Given the description of an element on the screen output the (x, y) to click on. 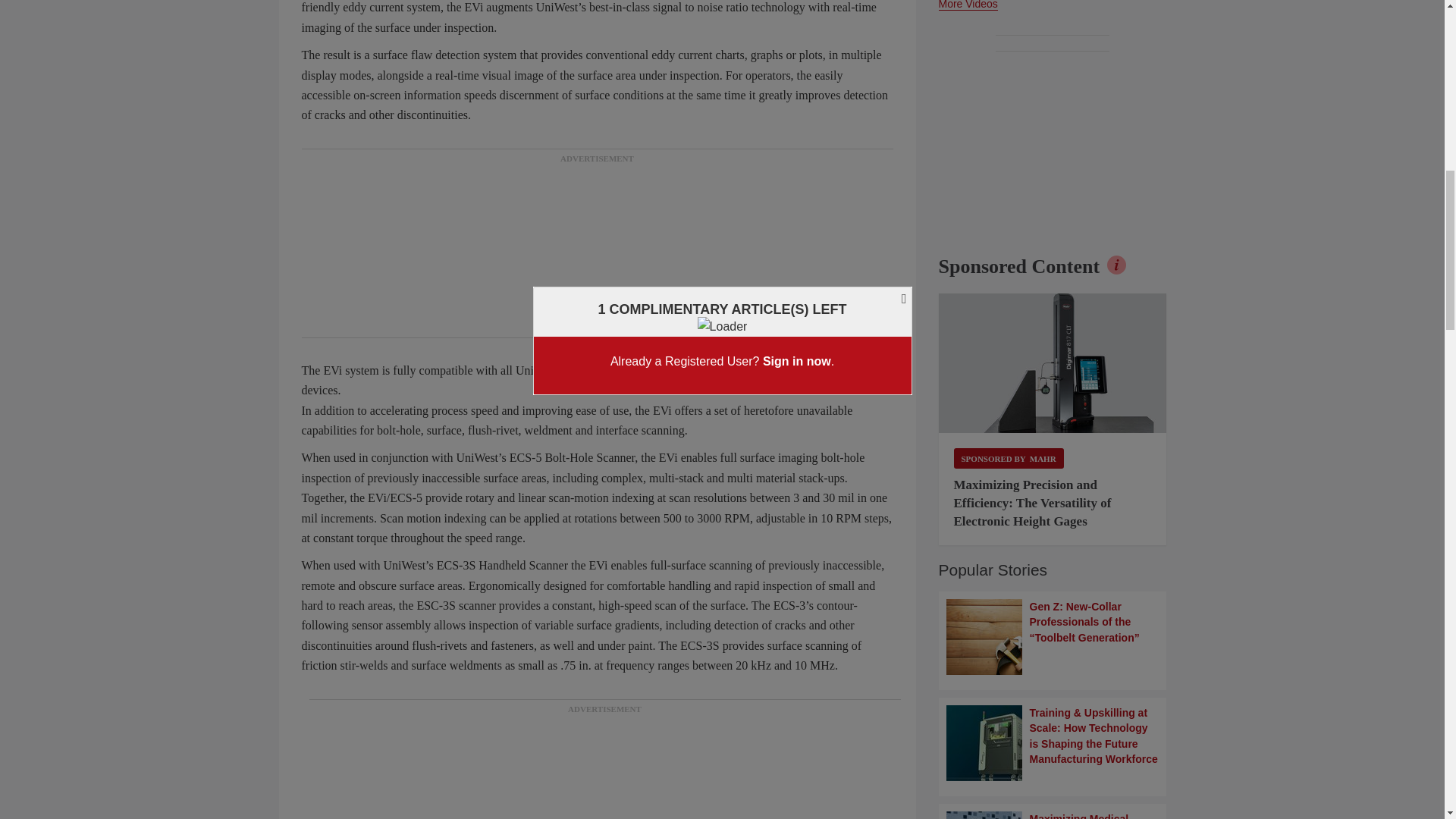
Sponsored by Mahr (1008, 457)
Digimar 817-CLT 4429601 with grey background (1052, 363)
